Given the description of an element on the screen output the (x, y) to click on. 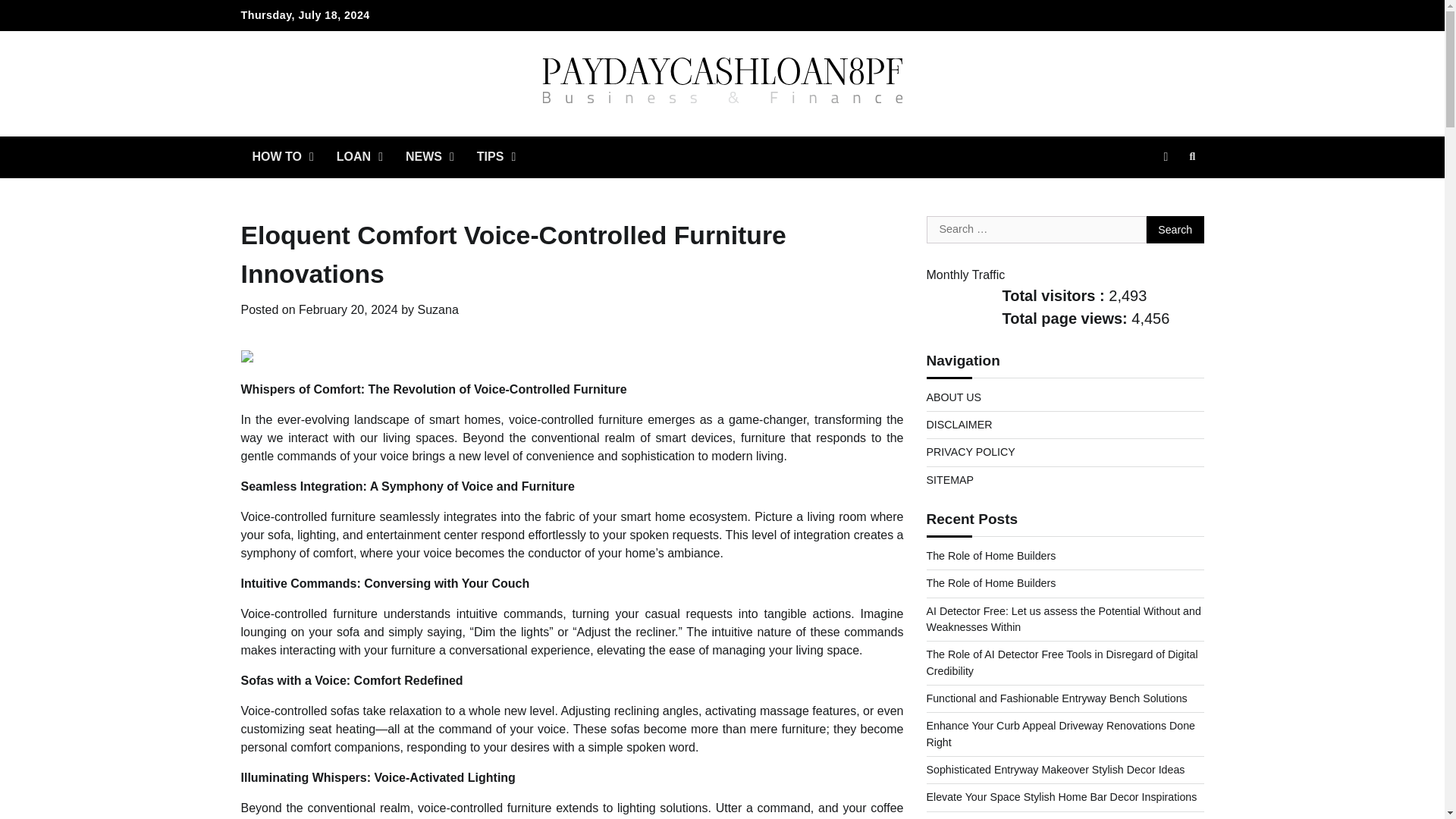
Search (1175, 229)
Search (1164, 192)
HOW TO (282, 156)
Search (1175, 229)
Search (1192, 156)
Suzana (437, 309)
February 20, 2024 (347, 309)
LOAN (359, 156)
View Random Post (1165, 156)
TIPS (496, 156)
NEWS (429, 156)
